Given the description of an element on the screen output the (x, y) to click on. 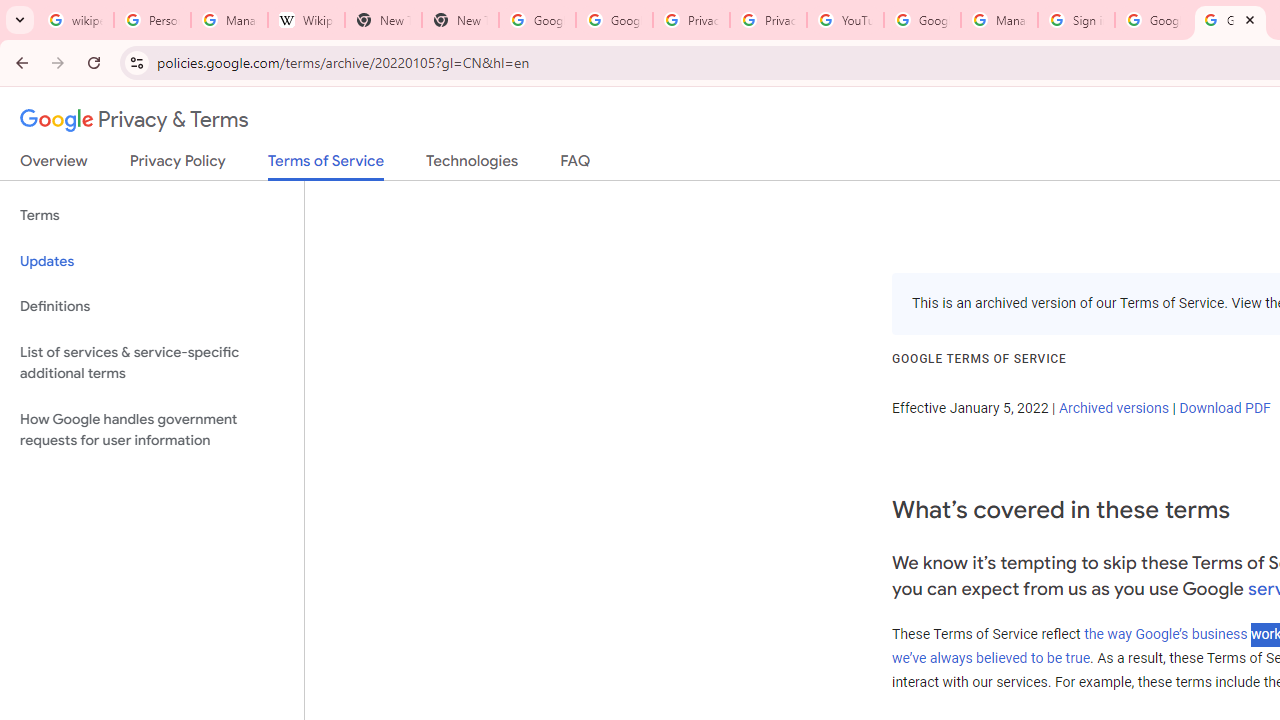
YouTube (845, 20)
New Tab (383, 20)
Download PDF (1224, 407)
Google Account Help (922, 20)
Personalization & Google Search results - Google Search Help (151, 20)
How Google handles government requests for user information (152, 429)
